Given the description of an element on the screen output the (x, y) to click on. 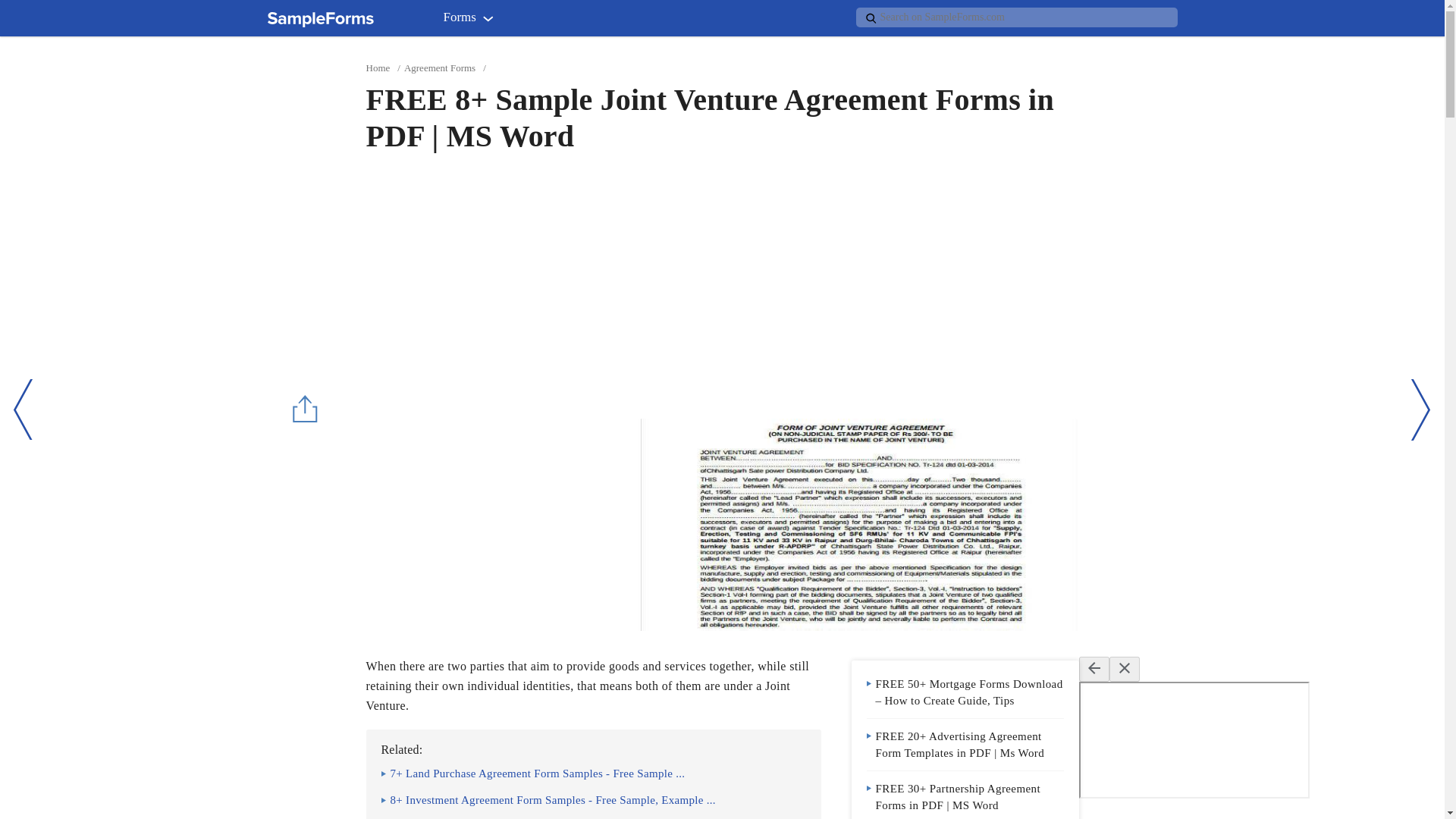
Home (377, 68)
sample joint venture agreement forms (858, 524)
Forms (471, 20)
Advertisement (492, 524)
